Given the description of an element on the screen output the (x, y) to click on. 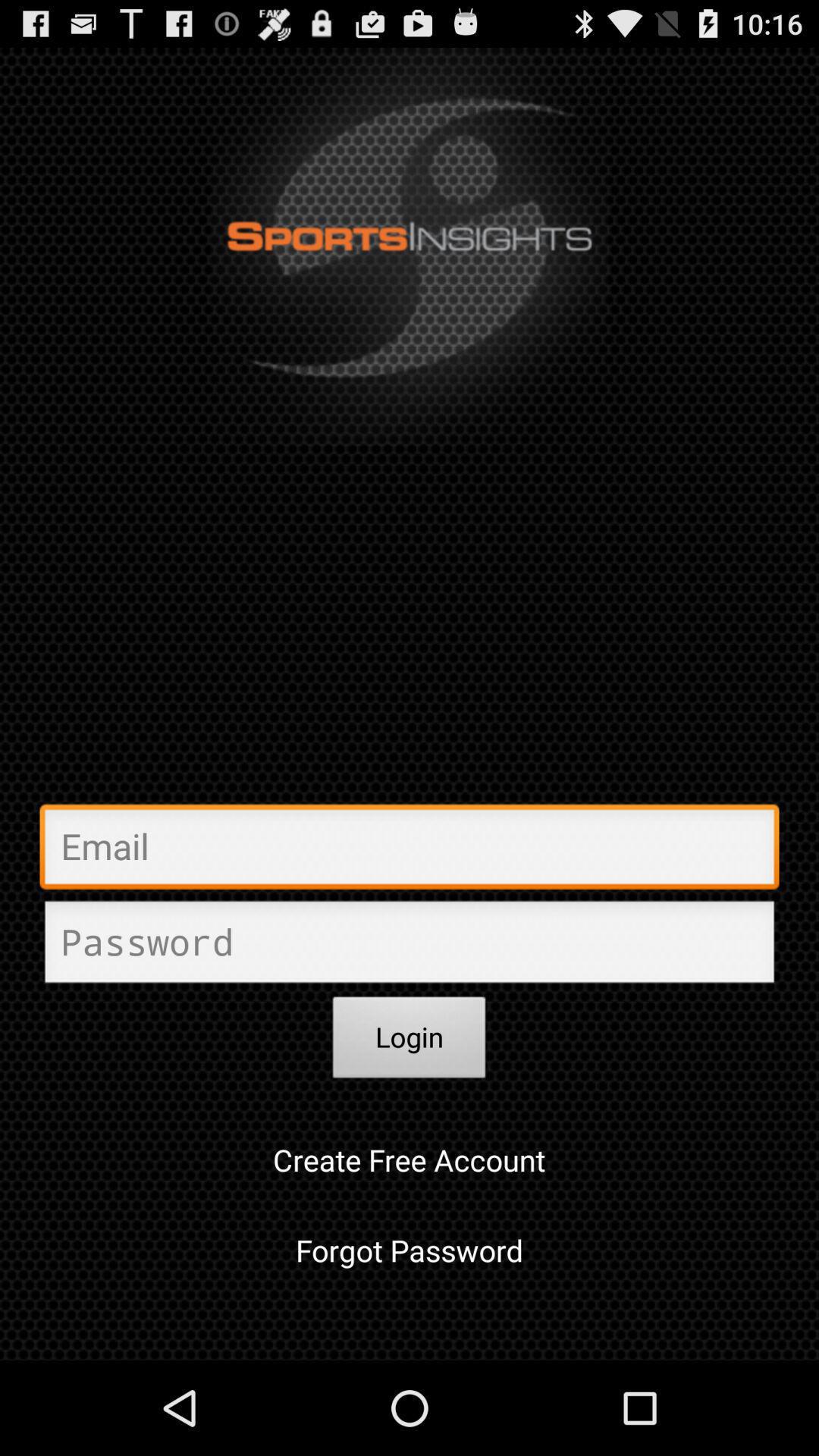
email (409, 850)
